Given the description of an element on the screen output the (x, y) to click on. 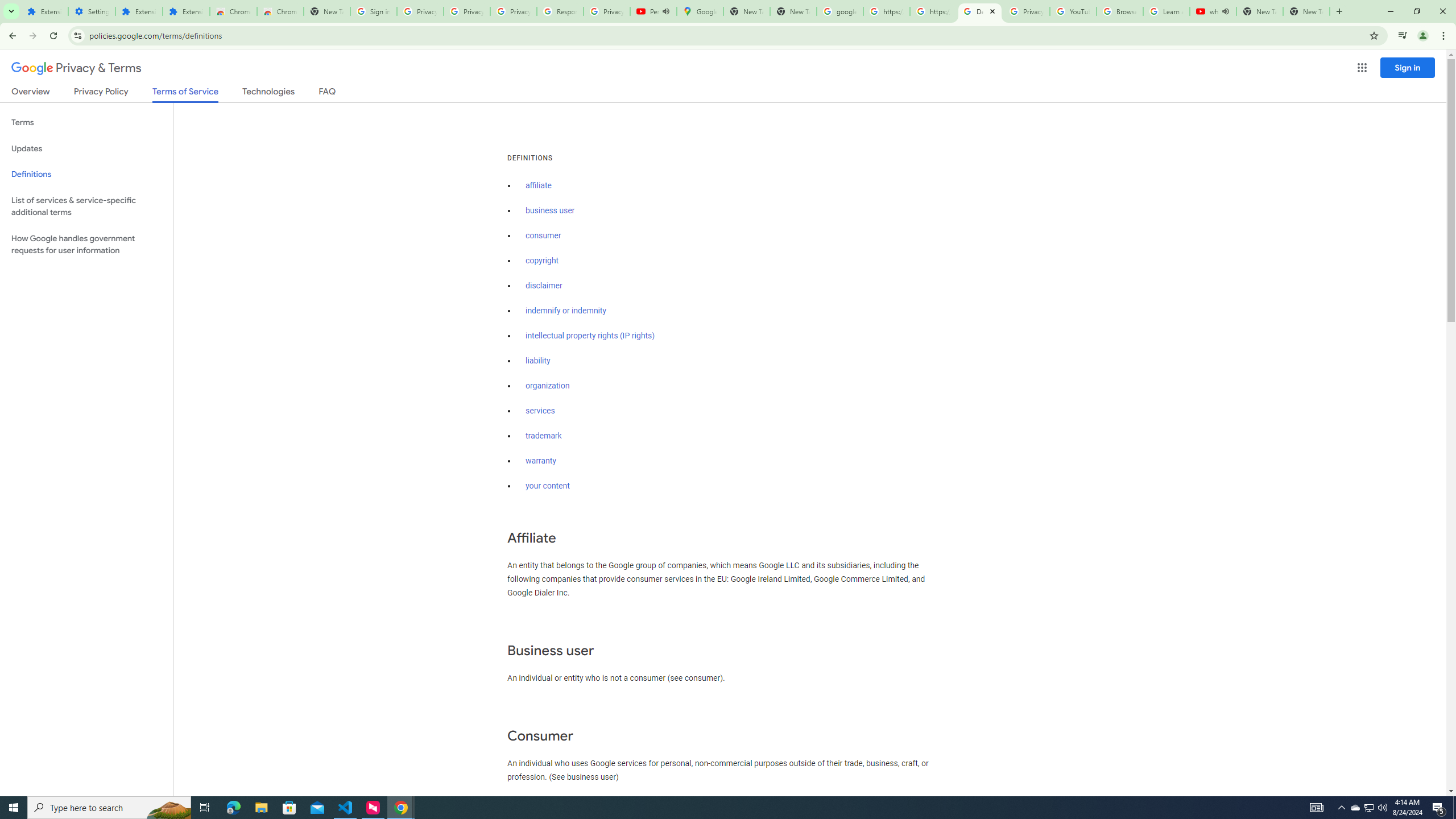
Chrome Web Store (233, 11)
https://scholar.google.com/ (933, 11)
List of services & service-specific additional terms (86, 206)
your content (547, 486)
Browse Chrome as a guest - Computer - Google Chrome Help (1120, 11)
indemnify or indemnity (565, 311)
Sign in - Google Accounts (373, 11)
intellectual property rights (IP rights) (590, 335)
Personalized AI for you | Gemini - YouTube - Audio playing (652, 11)
